Given the description of an element on the screen output the (x, y) to click on. 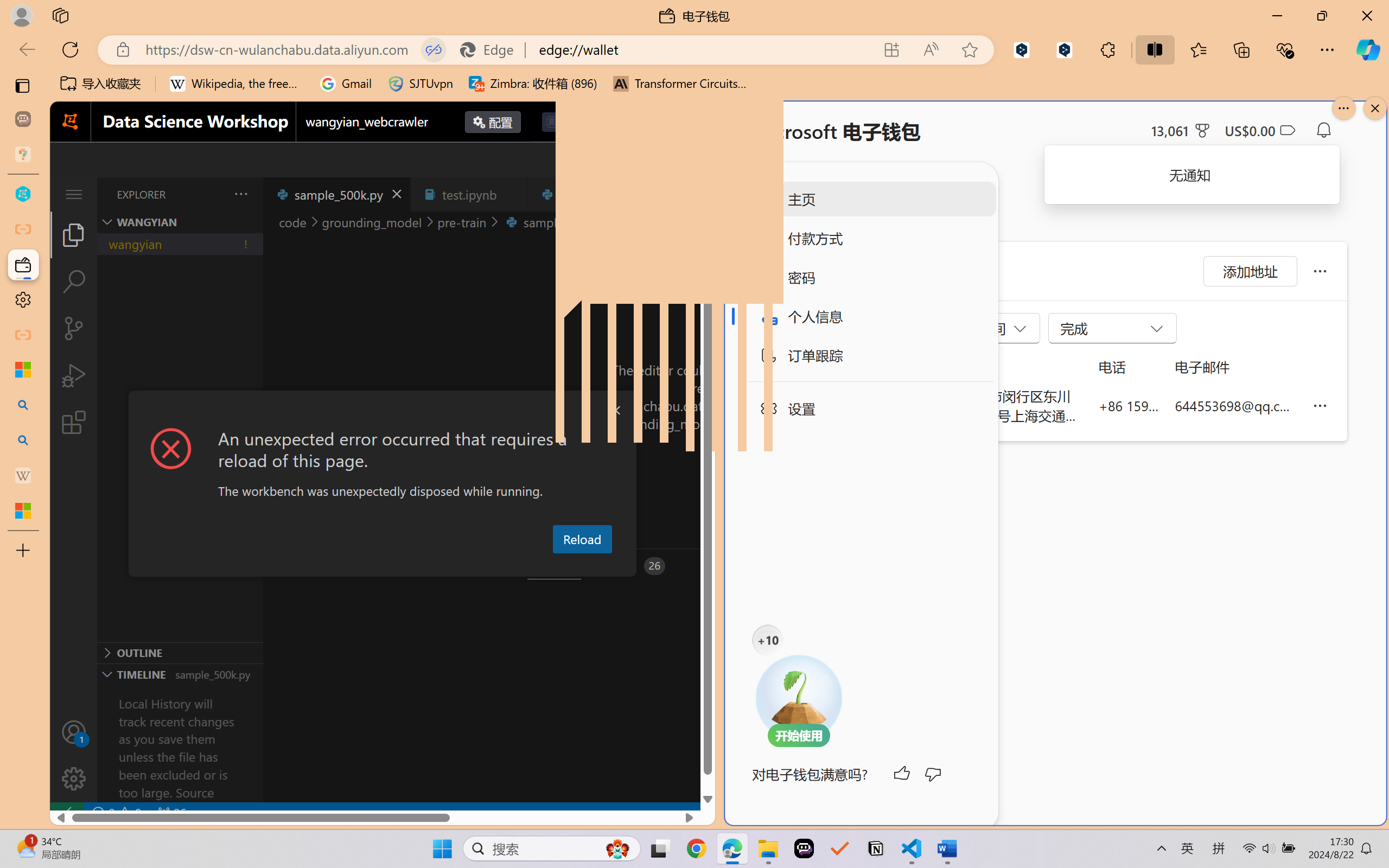
Problems (Ctrl+Shift+M) (308, 565)
Copilot (Ctrl+Shift+.) (1368, 49)
Timeline Section (179, 673)
Microsoft Cashback - US$0.00 (1259, 129)
